Given the description of an element on the screen output the (x, y) to click on. 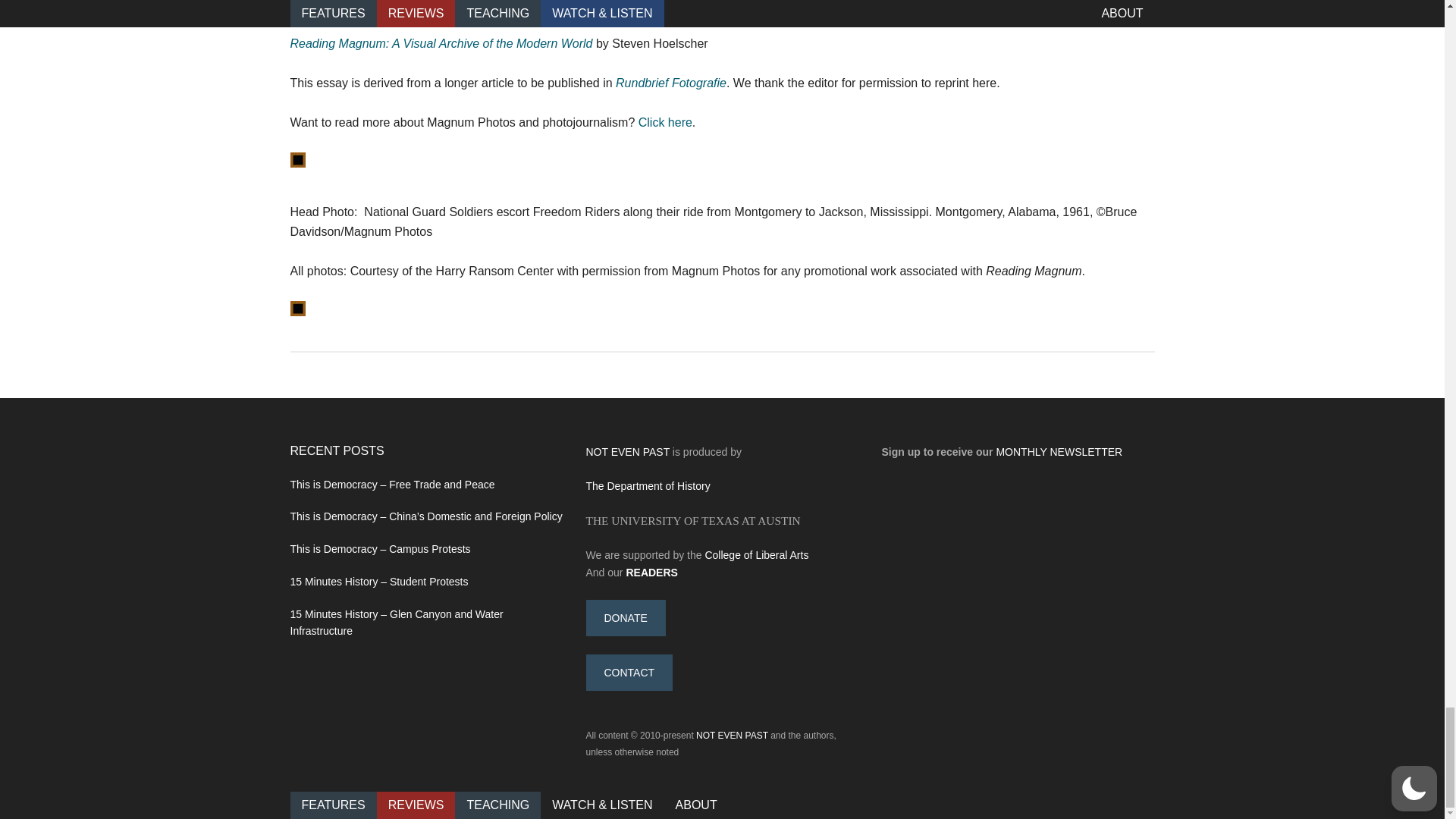
Reading Magnum: A Visual Archive of the Modern World (440, 42)
Click here (663, 122)
Rundbrief Fotografie (669, 82)
